Given the description of an element on the screen output the (x, y) to click on. 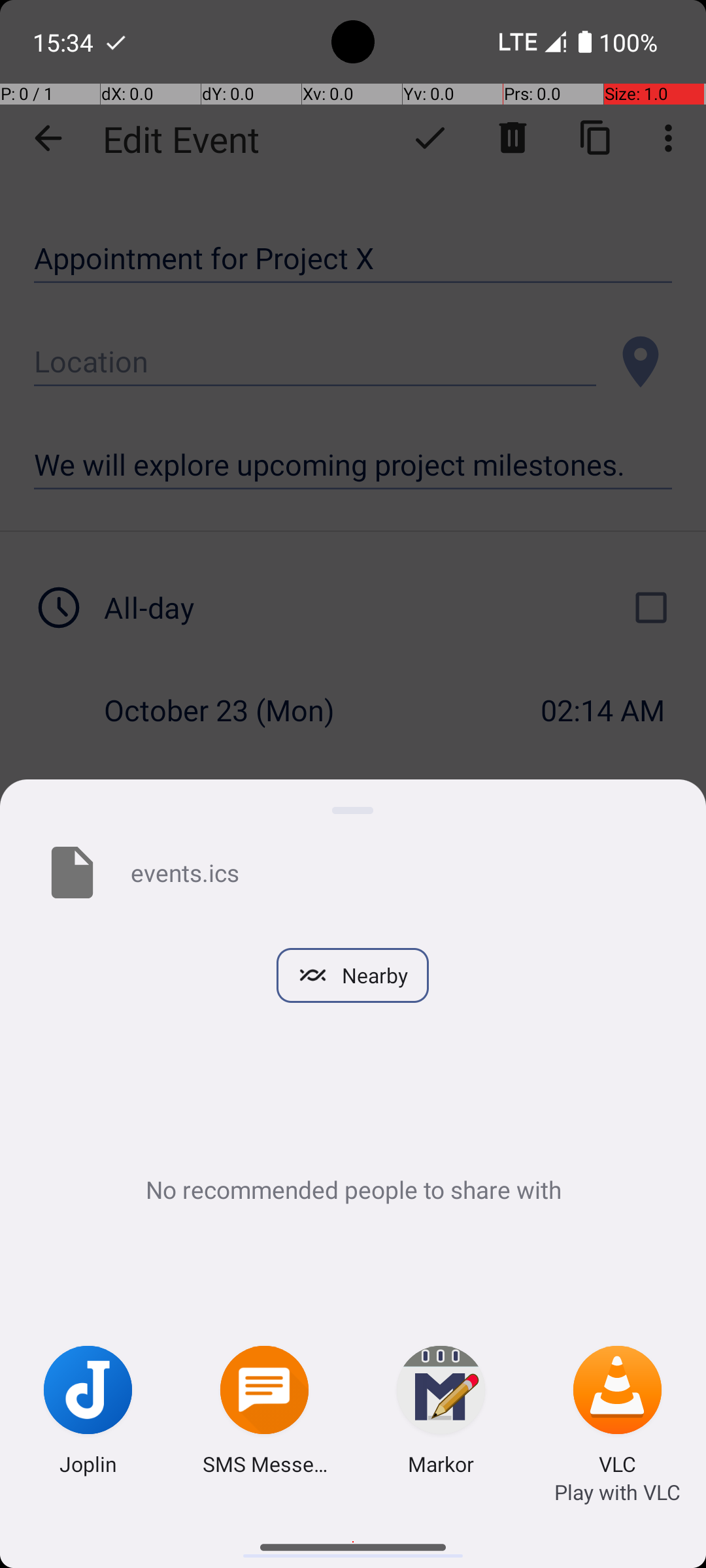
events.ics Element type: android.widget.TextView (397, 872)
Play with VLC Element type: android.widget.TextView (617, 1491)
